Given the description of an element on the screen output the (x, y) to click on. 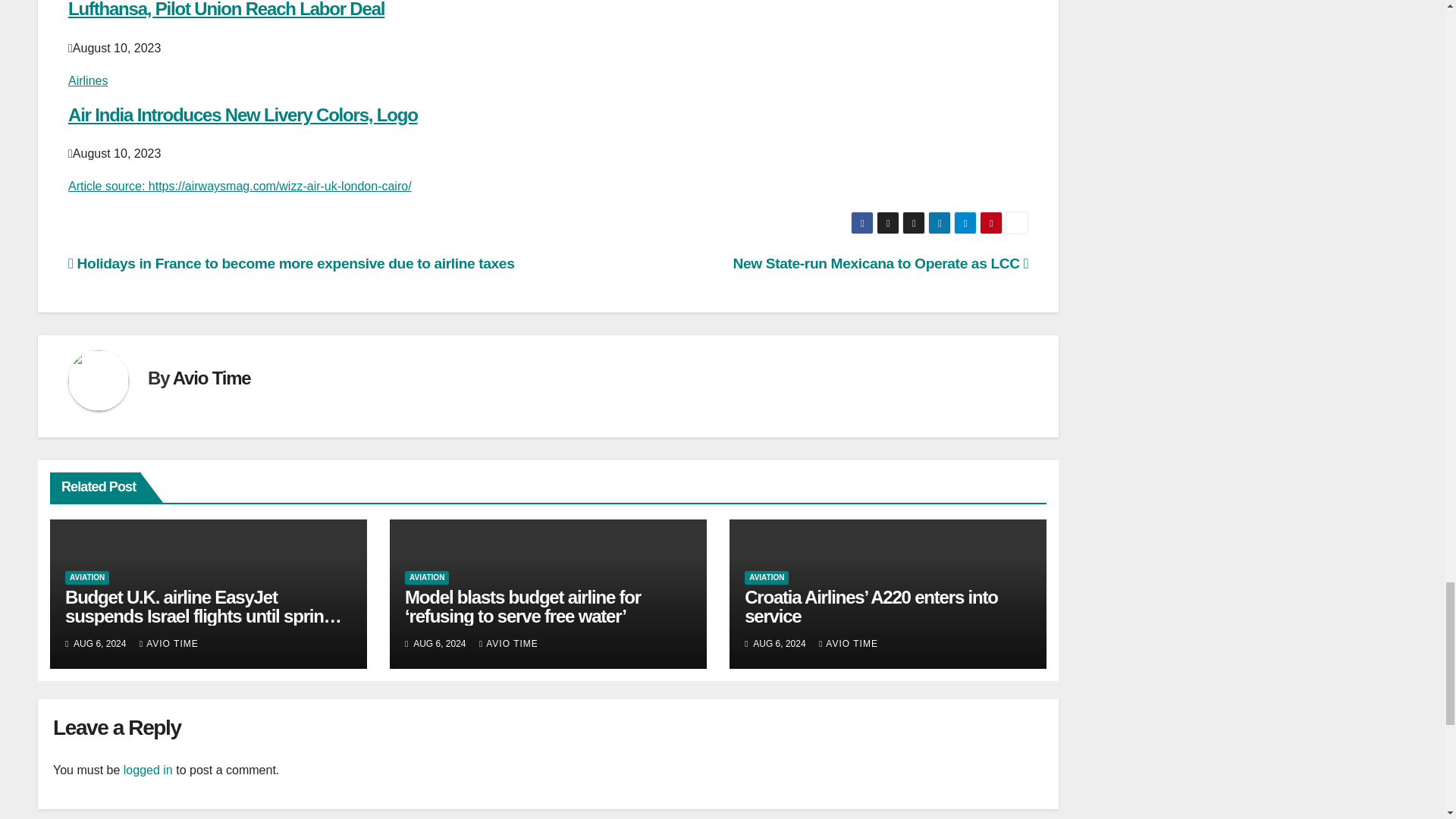
Airlines (87, 80)
New State-run Mexicana to Operate as LCC (881, 263)
Air India Introduces New Livery Colors, Logo (242, 114)
Lufthansa, Pilot Union Reach Labor Deal (226, 9)
AVIATION (87, 577)
Avio Time (211, 377)
